Given the description of an element on the screen output the (x, y) to click on. 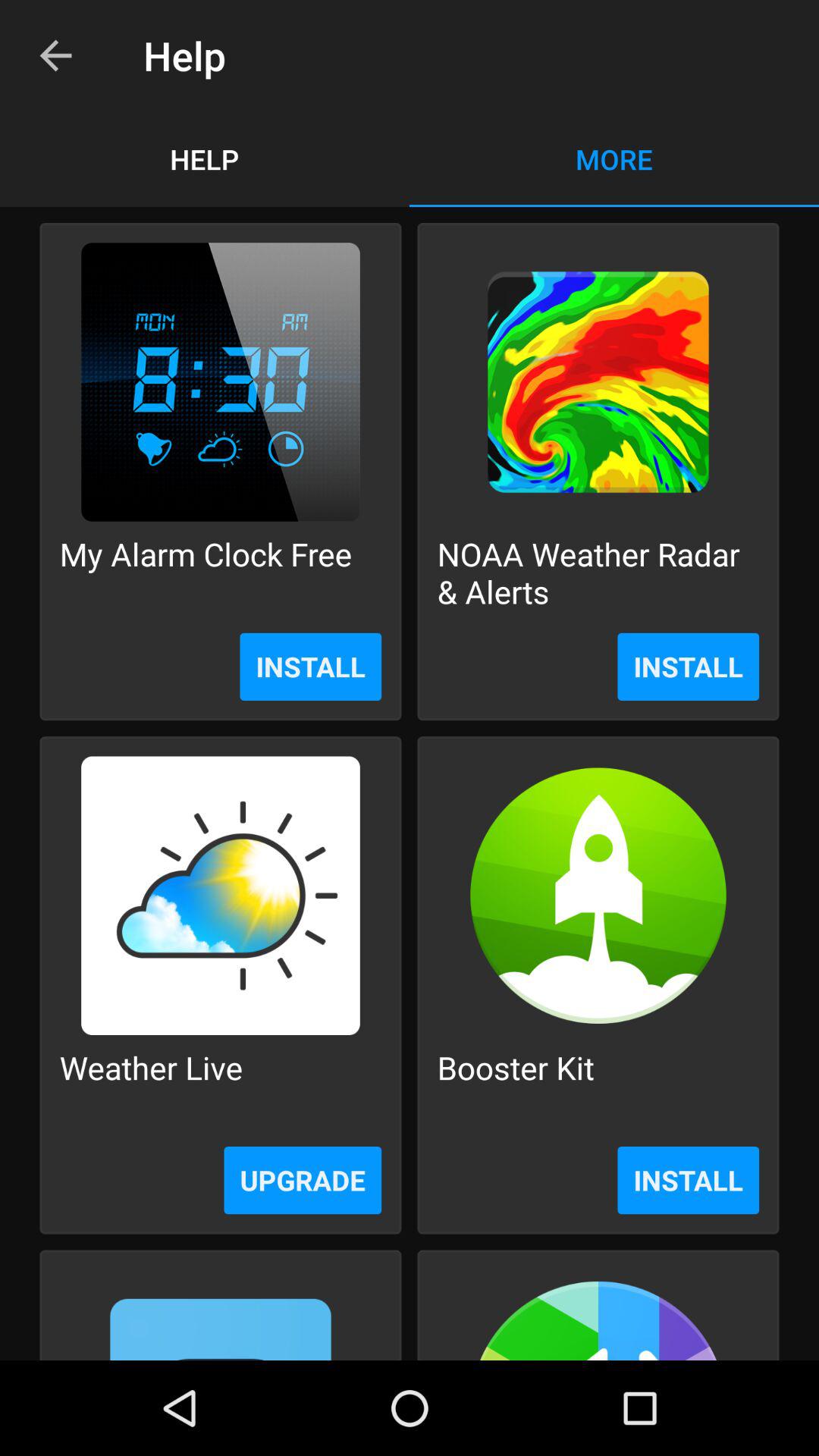
click icon to the left of the install item (302, 1180)
